Given the description of an element on the screen output the (x, y) to click on. 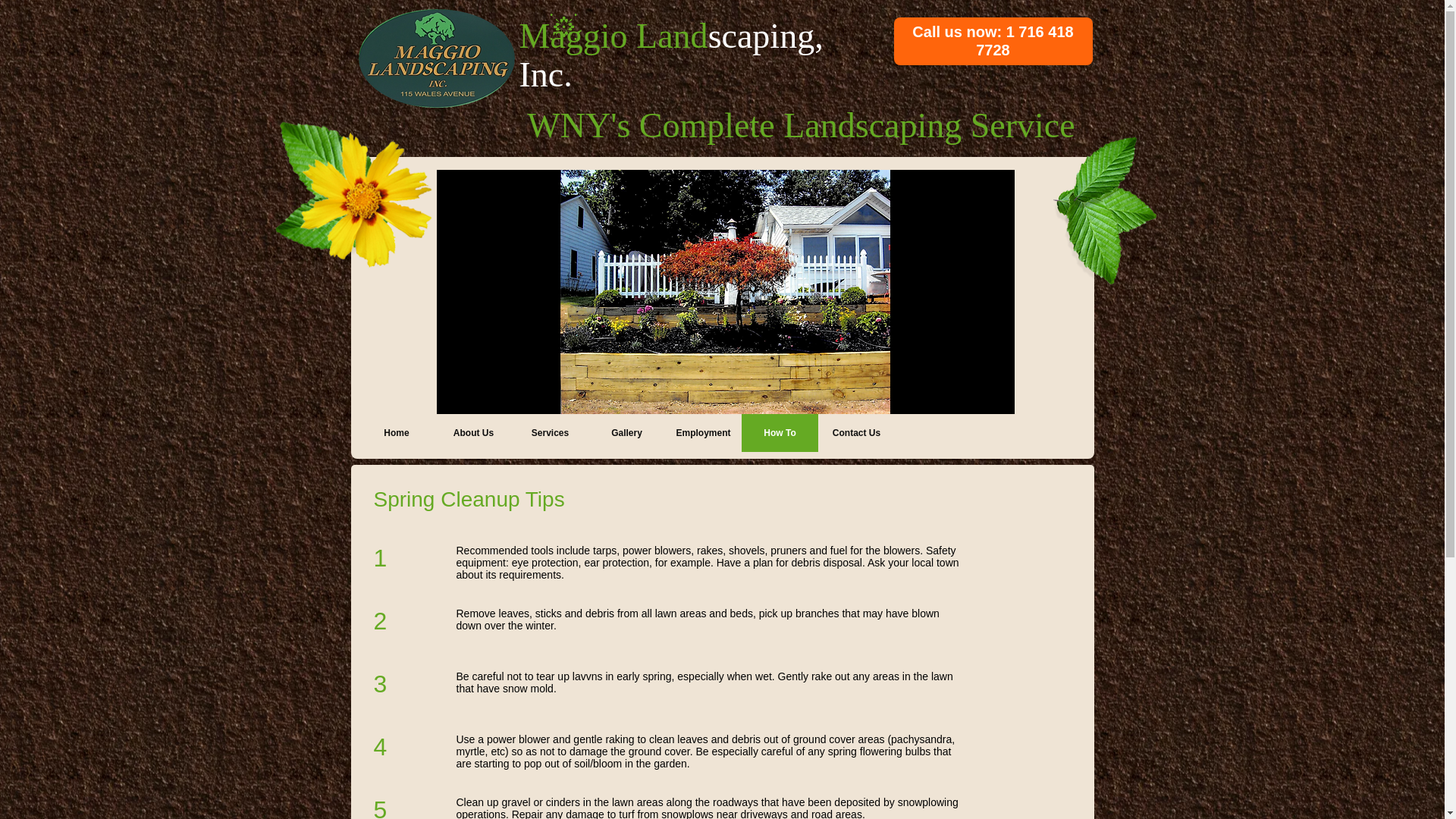
Maggio Landscaping, Inc. (670, 55)
Home (395, 433)
Contact Us (854, 433)
How To (779, 433)
Gallery (626, 433)
Services (549, 433)
Employment (702, 433)
About Us (473, 433)
